Given the description of an element on the screen output the (x, y) to click on. 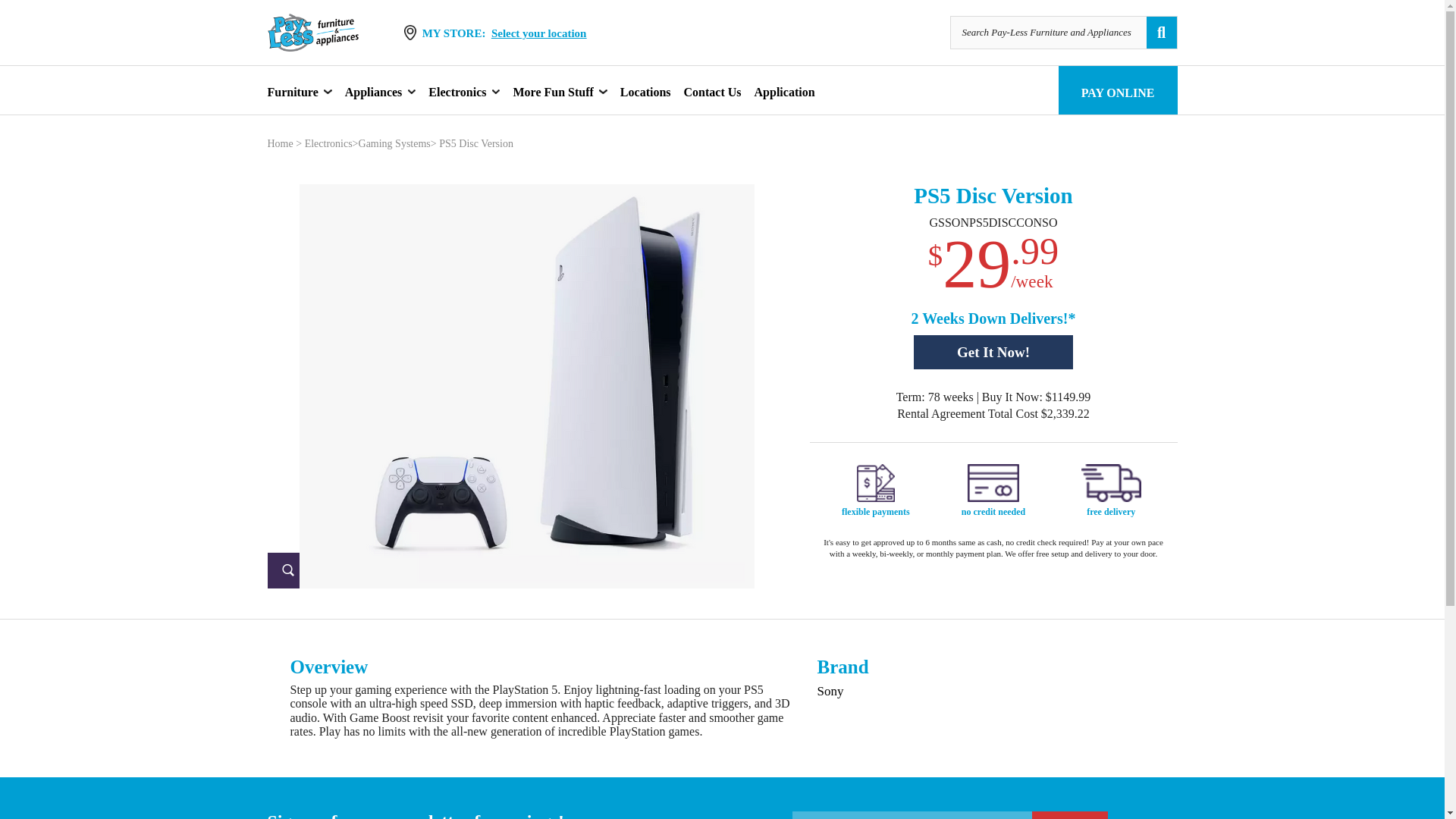
Select your location (539, 33)
Appliances (374, 91)
Electronics (457, 91)
Furniture (291, 91)
